Given the description of an element on the screen output the (x, y) to click on. 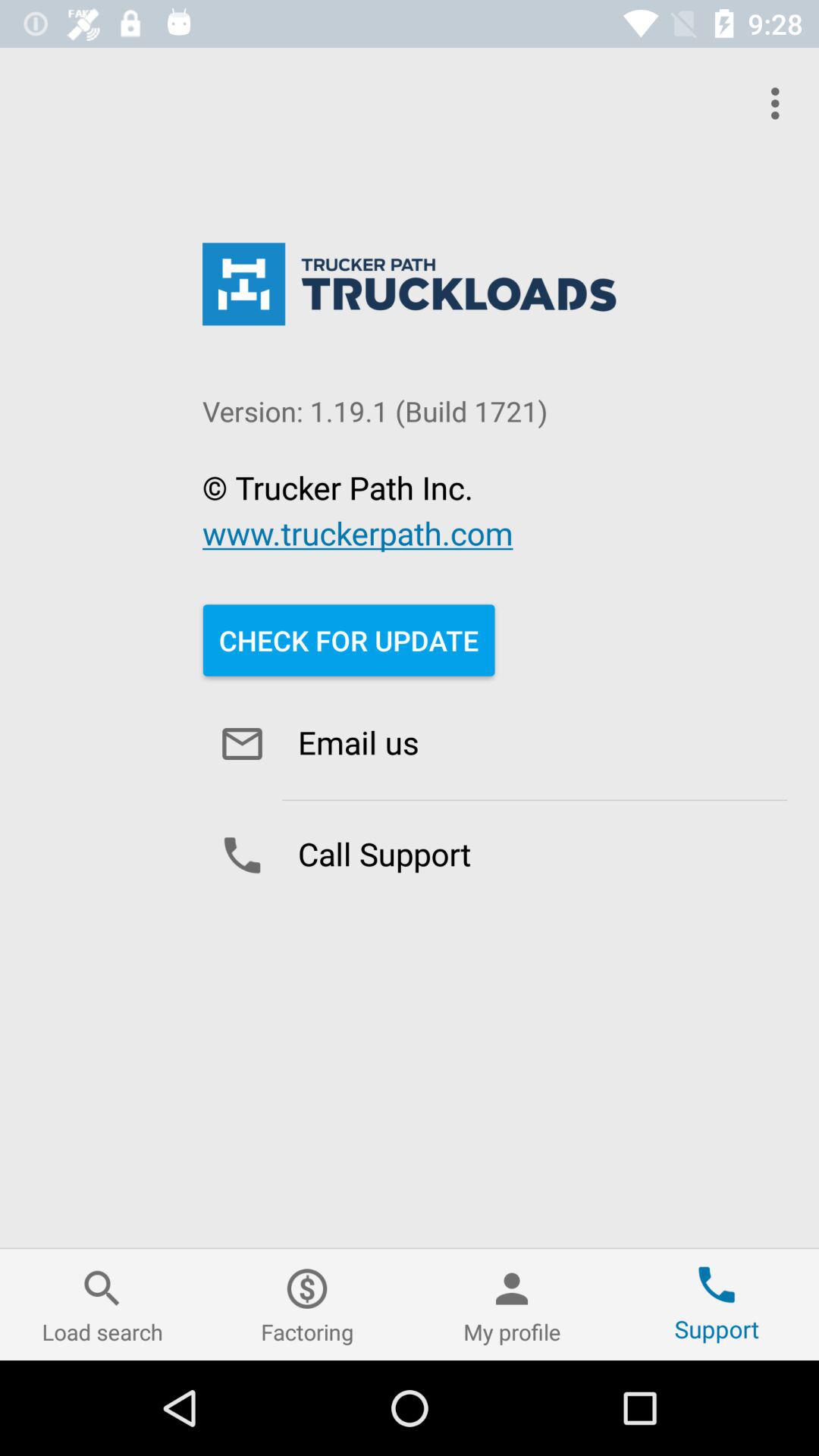
press item next to the my profile icon (306, 1304)
